Given the description of an element on the screen output the (x, y) to click on. 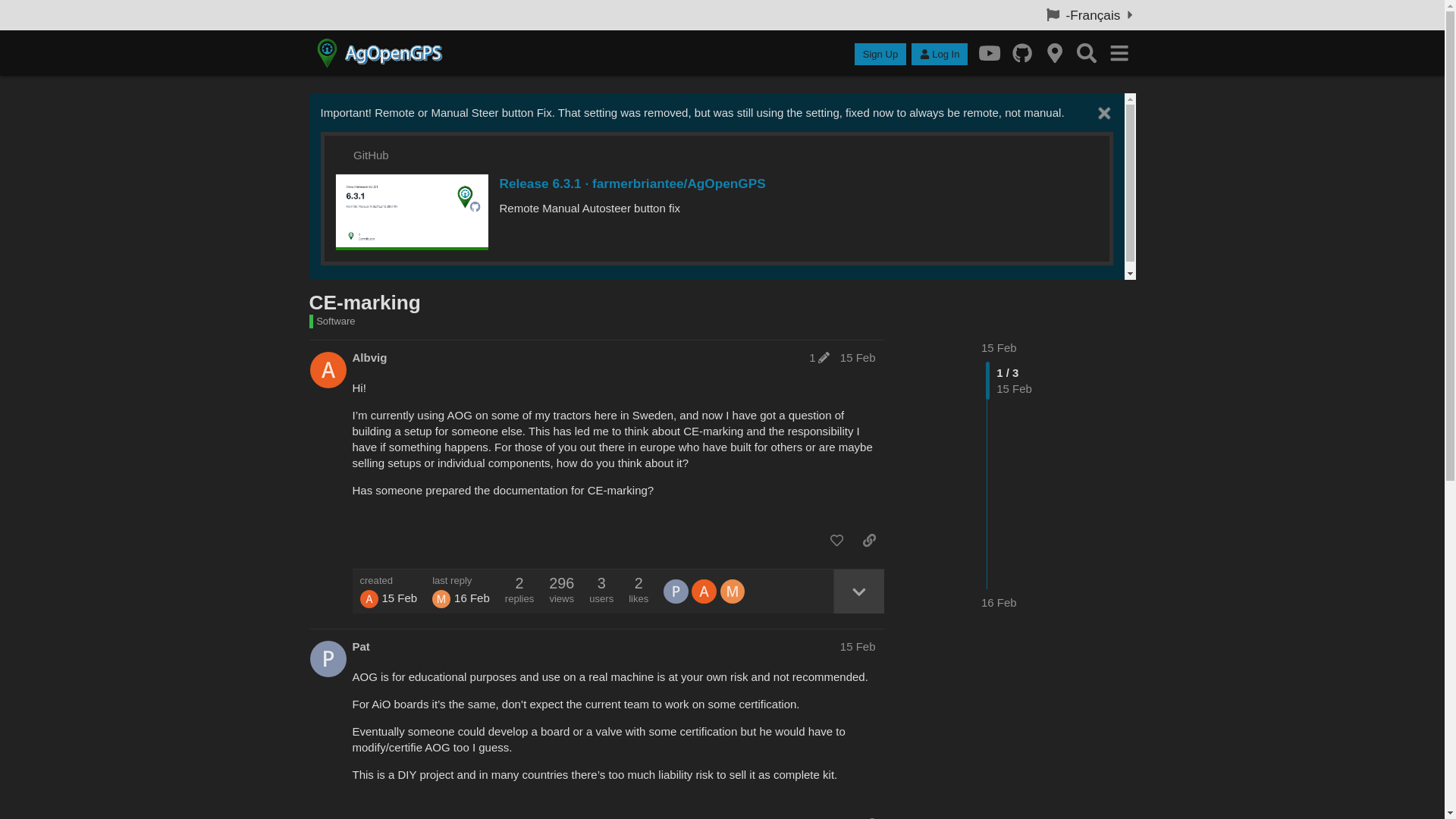
16 Feb (998, 602)
1 (819, 357)
Dektop-mobile link (1054, 52)
15 Feb (998, 347)
Software (331, 321)
Dektop-mobile link (990, 52)
Dektop-mobile link (1022, 52)
Sign Up (879, 54)
Albvig (369, 357)
Log In (939, 54)
Search (1086, 52)
GitHub (370, 154)
CE-marking (364, 302)
15 Feb (858, 357)
